Given the description of an element on the screen output the (x, y) to click on. 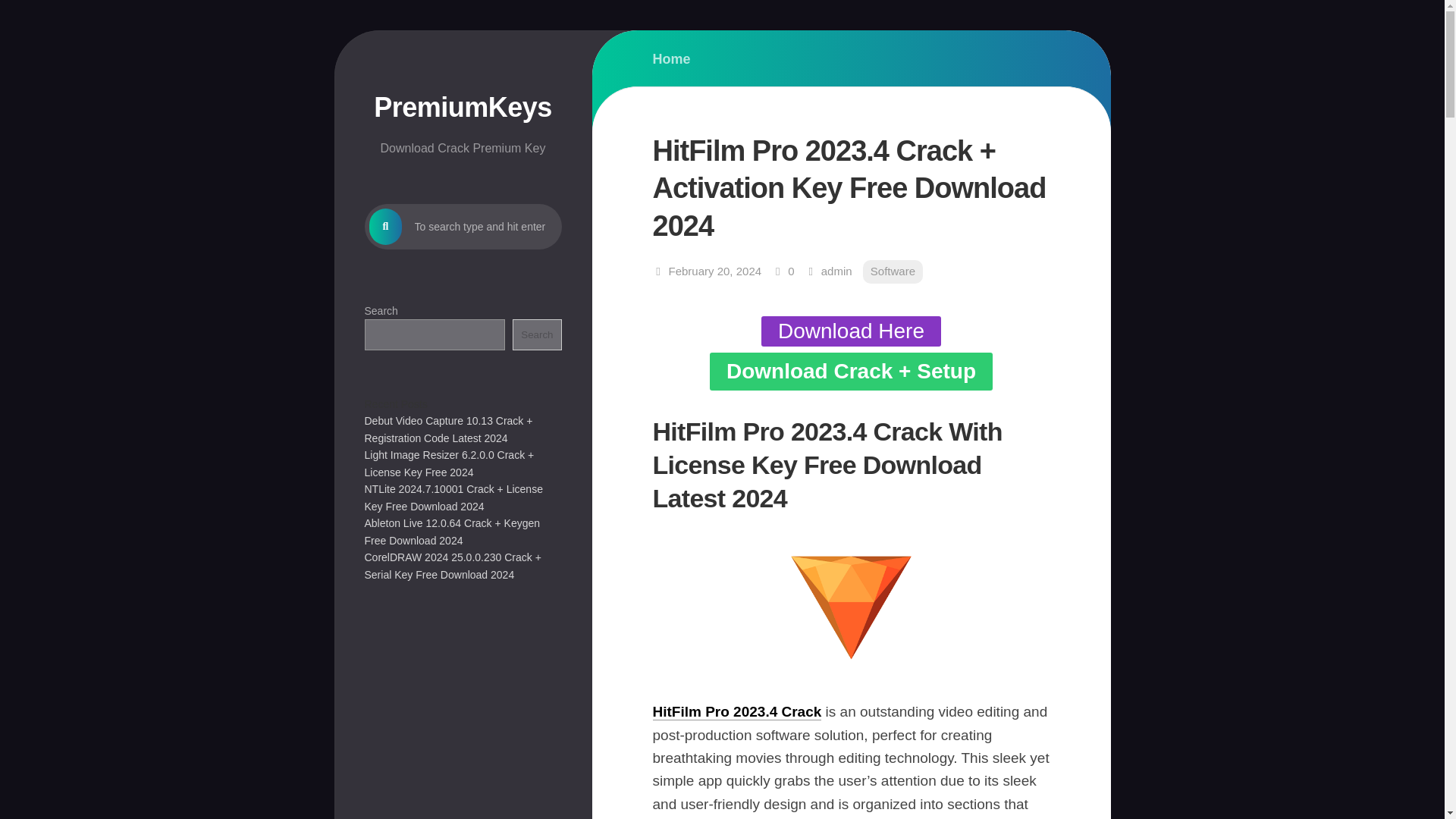
PremiumKeys (462, 106)
Search (536, 334)
Download Here (850, 331)
HitFilm Pro 2023.4 Crack (736, 711)
To search type and hit enter (462, 226)
To search type and hit enter (462, 226)
Home (671, 58)
Software (893, 271)
Posts by admin (836, 270)
admin (836, 270)
